Given the description of an element on the screen output the (x, y) to click on. 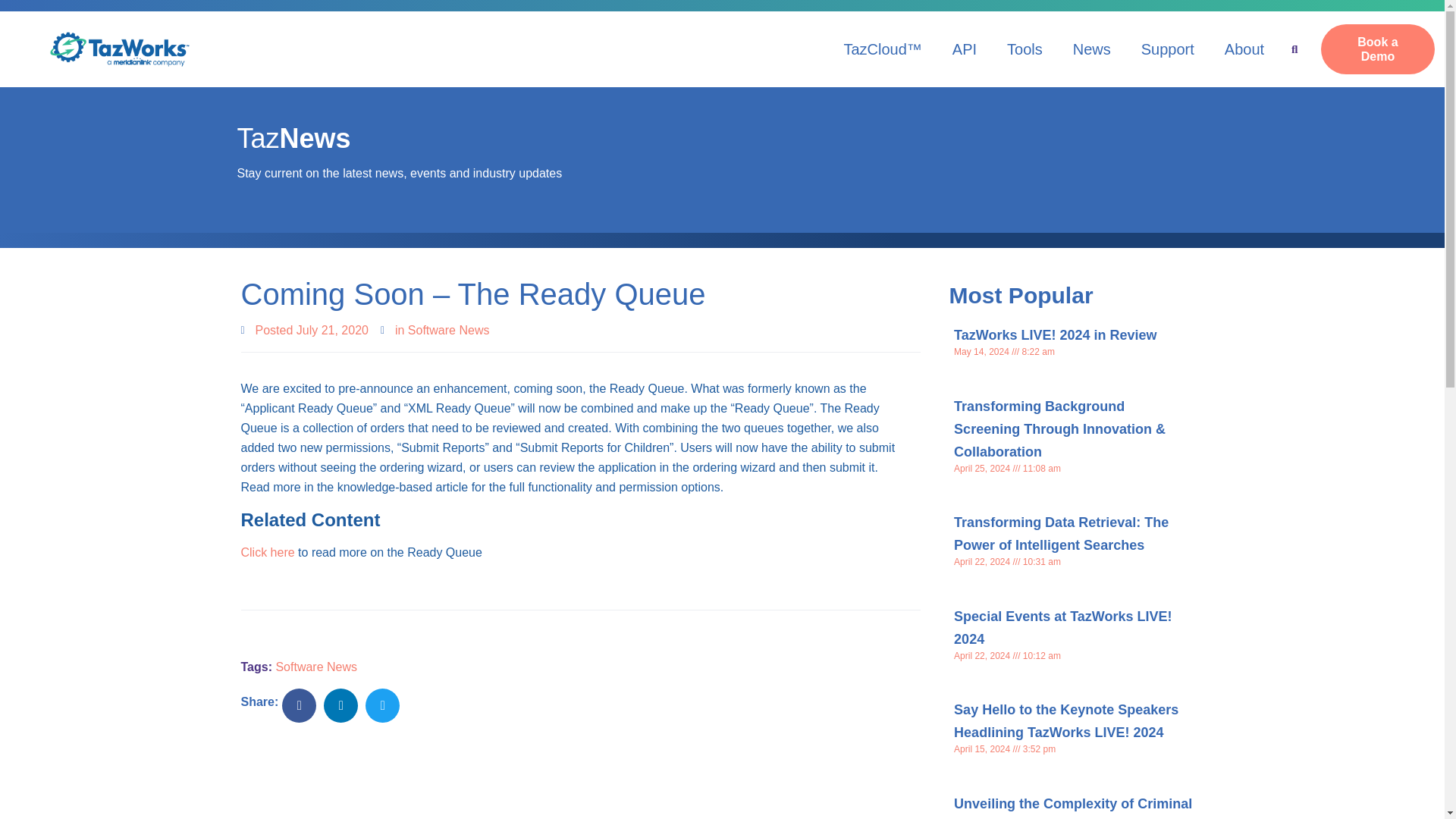
Book a Demo (1377, 49)
Software News (315, 666)
Support (1167, 48)
News (1091, 48)
Posted July 21, 2020 (304, 330)
Click here (268, 552)
About (1244, 48)
Software News (448, 329)
